Given the description of an element on the screen output the (x, y) to click on. 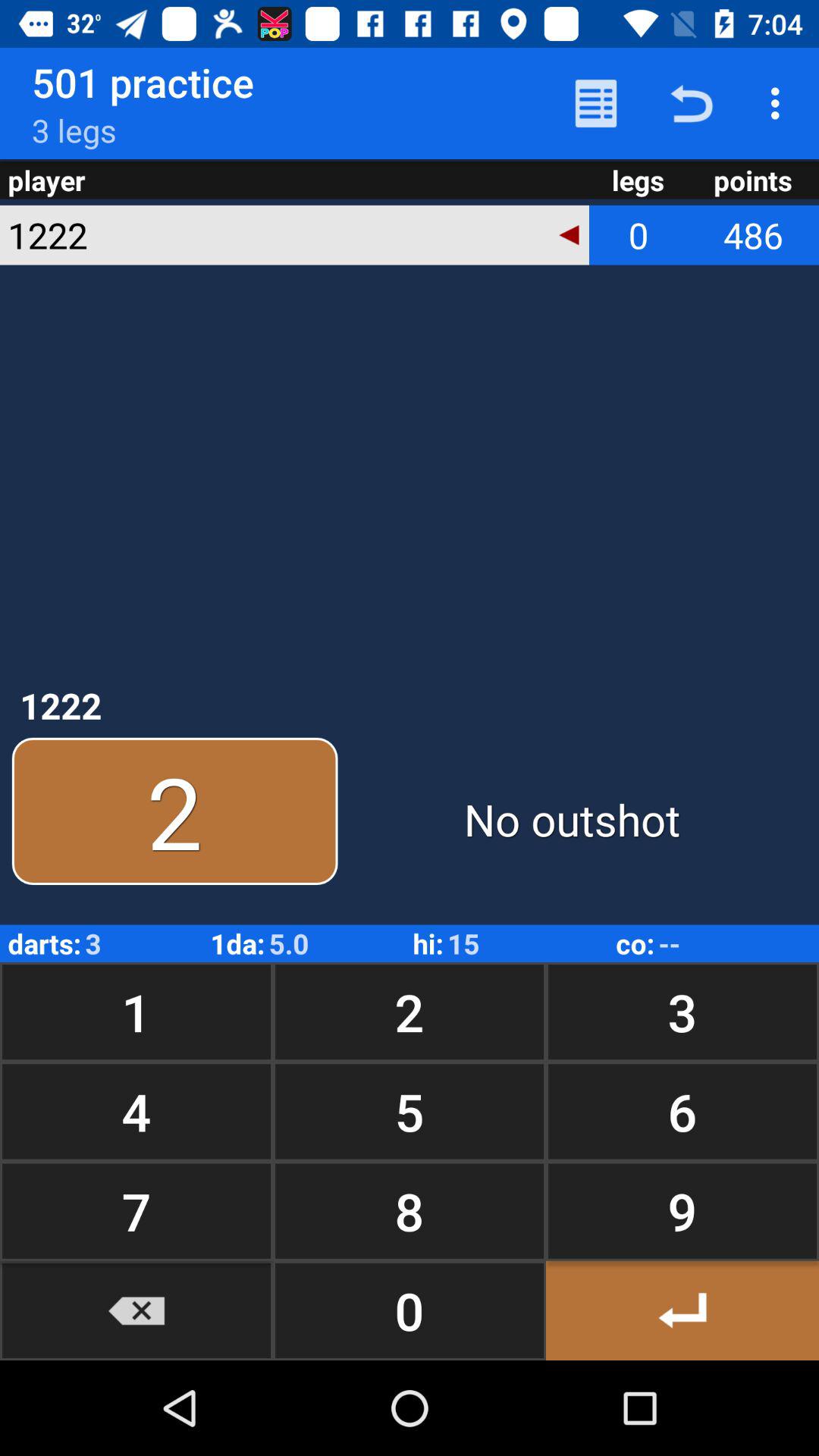
click the icon next to the 6 button (409, 1210)
